Given the description of an element on the screen output the (x, y) to click on. 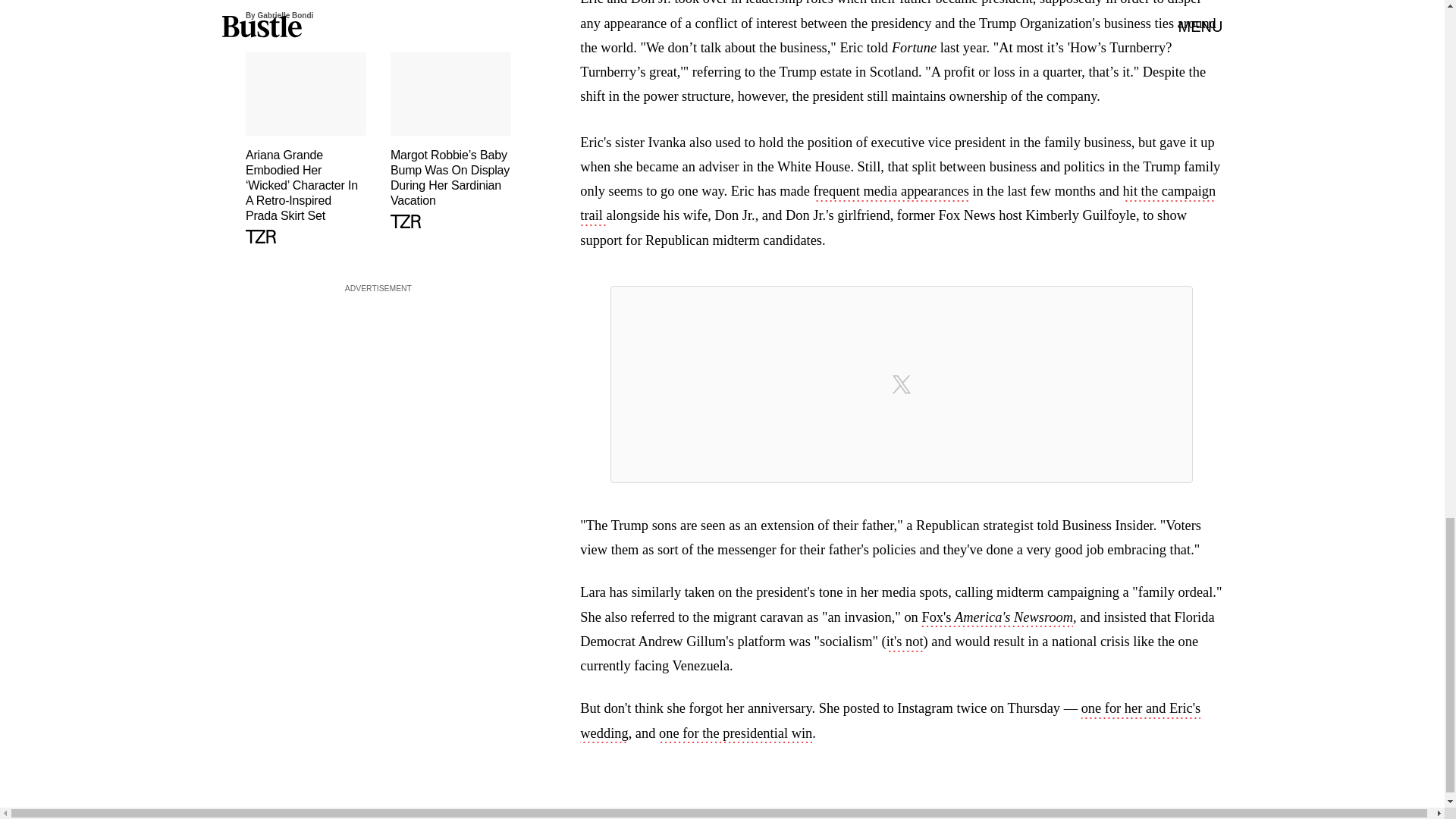
Fox's America's Newsroom (997, 618)
it's not (904, 642)
hit the campaign trail (897, 204)
one for the presidential win (735, 734)
one for her and Eric's wedding (889, 721)
frequent media appearances (891, 192)
